Given the description of an element on the screen output the (x, y) to click on. 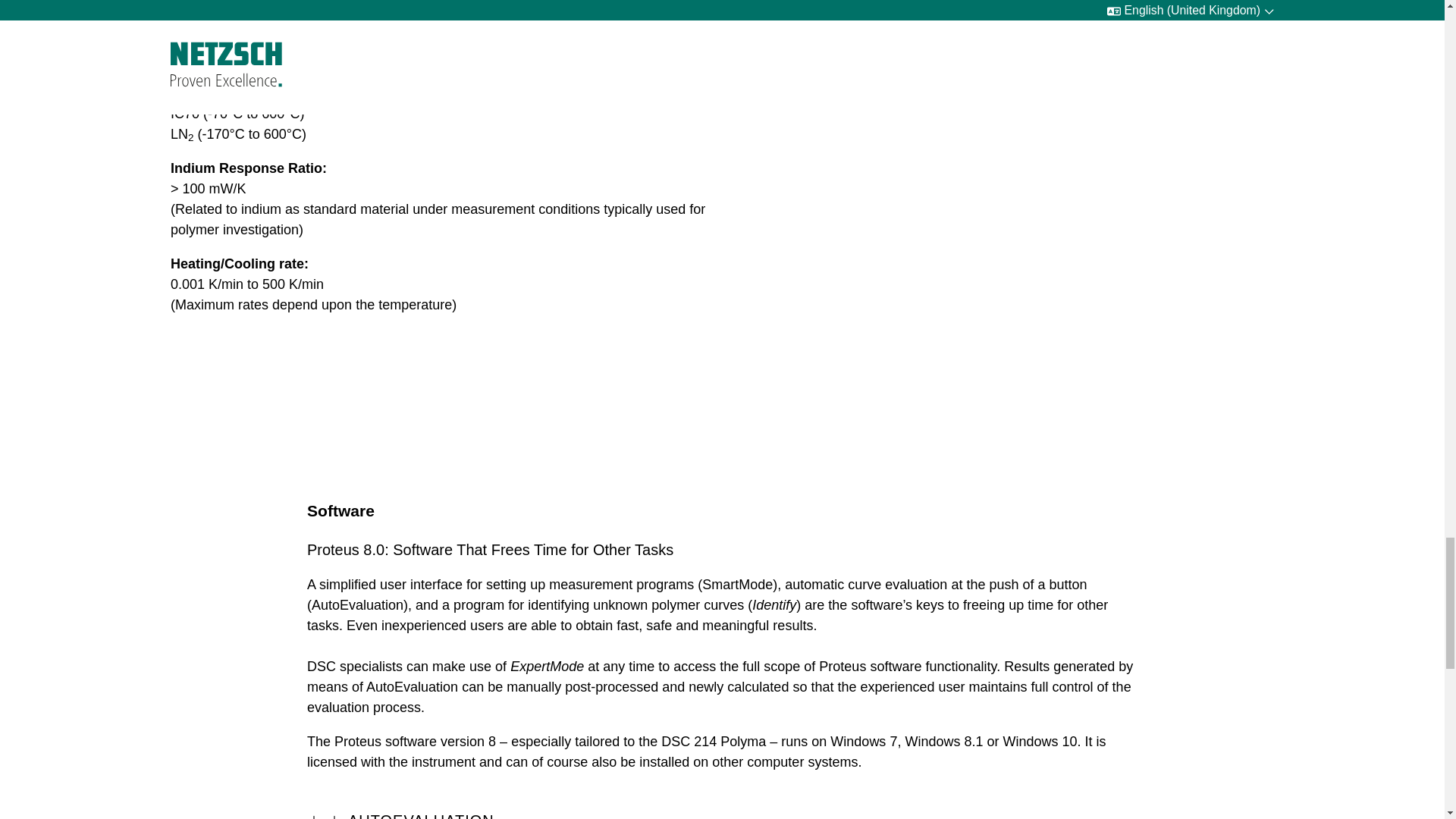
AUTOEVALUATION (722, 809)
